Given the description of an element on the screen output the (x, y) to click on. 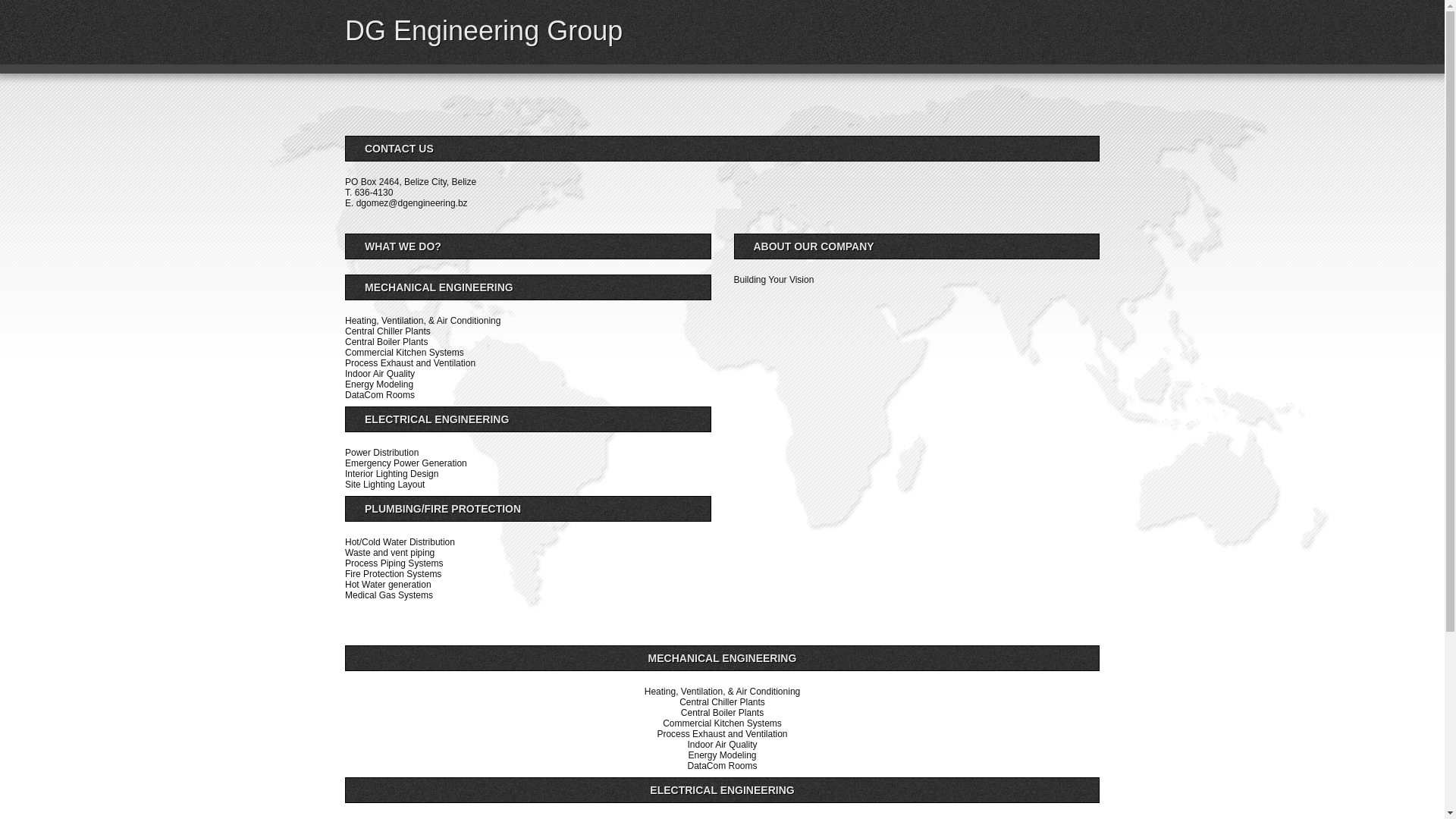
DG Engineering Group Element type: text (483, 30)
